Given the description of an element on the screen output the (x, y) to click on. 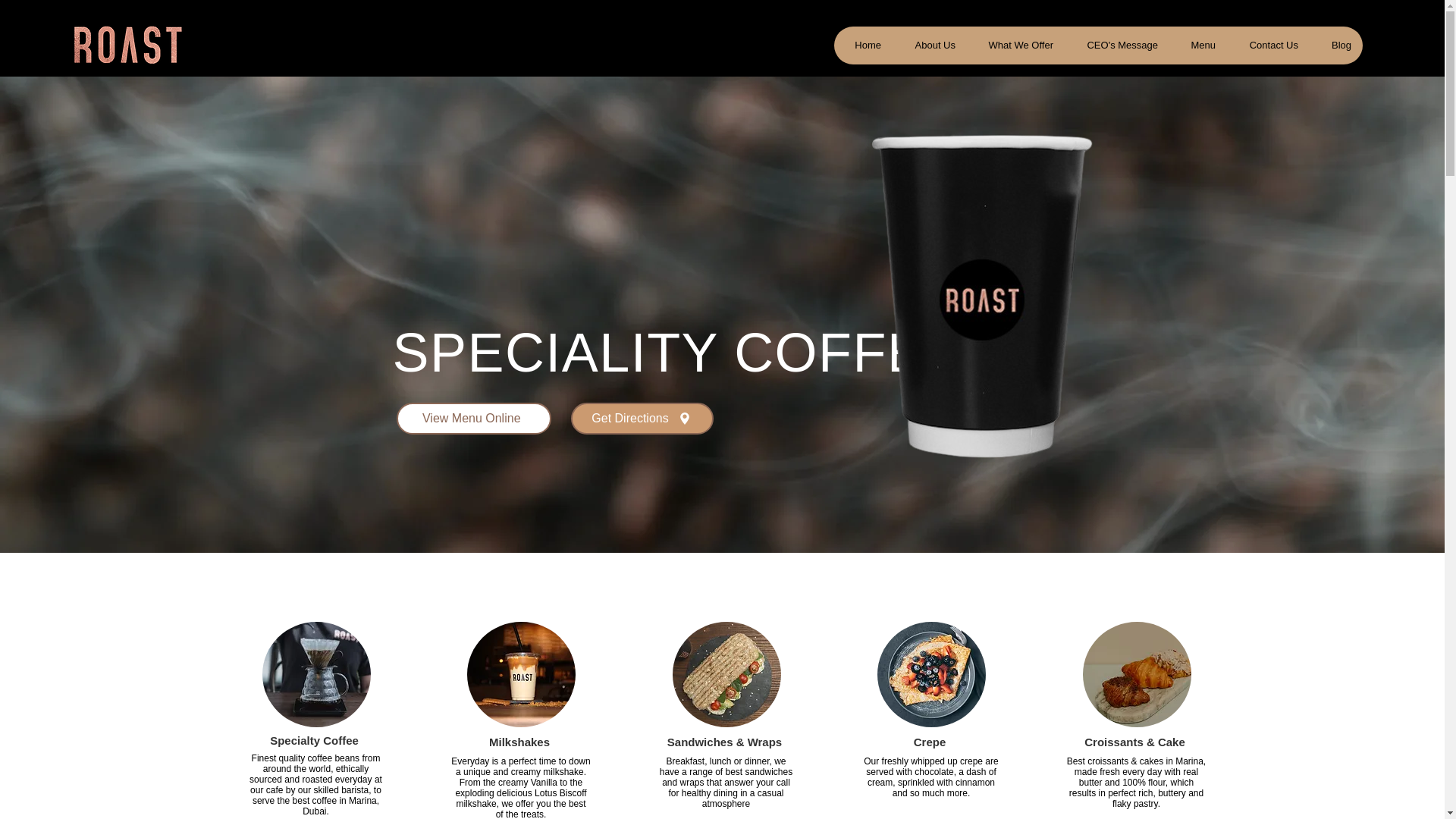
Get Directions (641, 418)
What We Offer (1015, 45)
Home (863, 45)
CEO's Message (1116, 45)
Contact Us (1267, 45)
Logo.png (125, 46)
View Menu Online (473, 418)
About Us (929, 45)
Menu (1198, 45)
Blog (1335, 45)
